Given the description of an element on the screen output the (x, y) to click on. 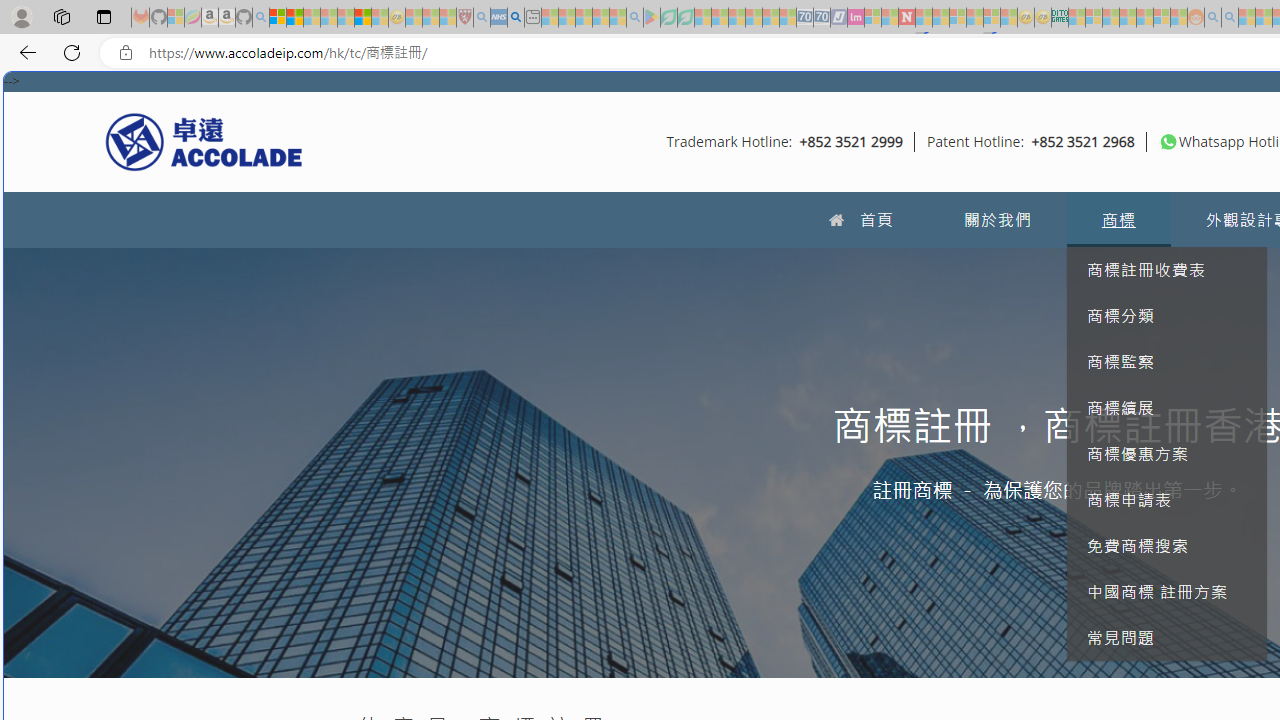
Expert Portfolios - Sleeping (1128, 17)
Cheap Car Rentals - Save70.com - Sleeping (804, 17)
google - Search - Sleeping (634, 17)
